Given the description of an element on the screen output the (x, y) to click on. 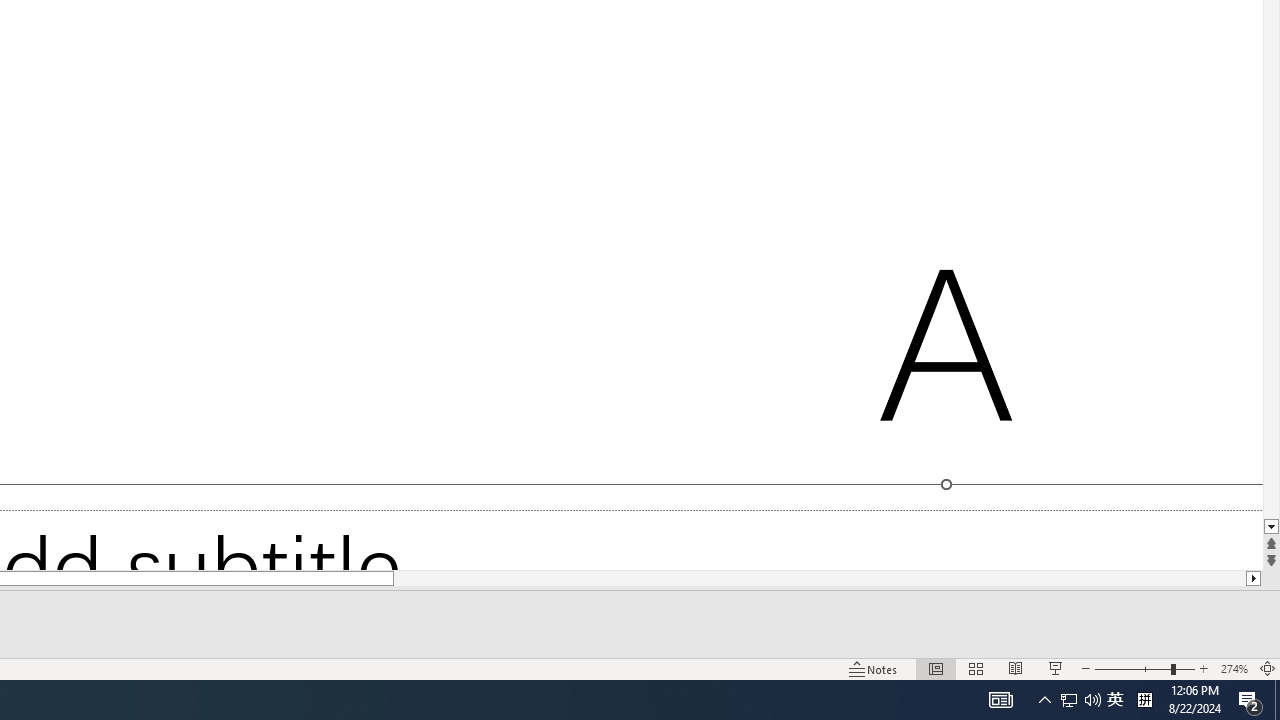
Zoom 274% (1234, 668)
